Given the description of an element on the screen output the (x, y) to click on. 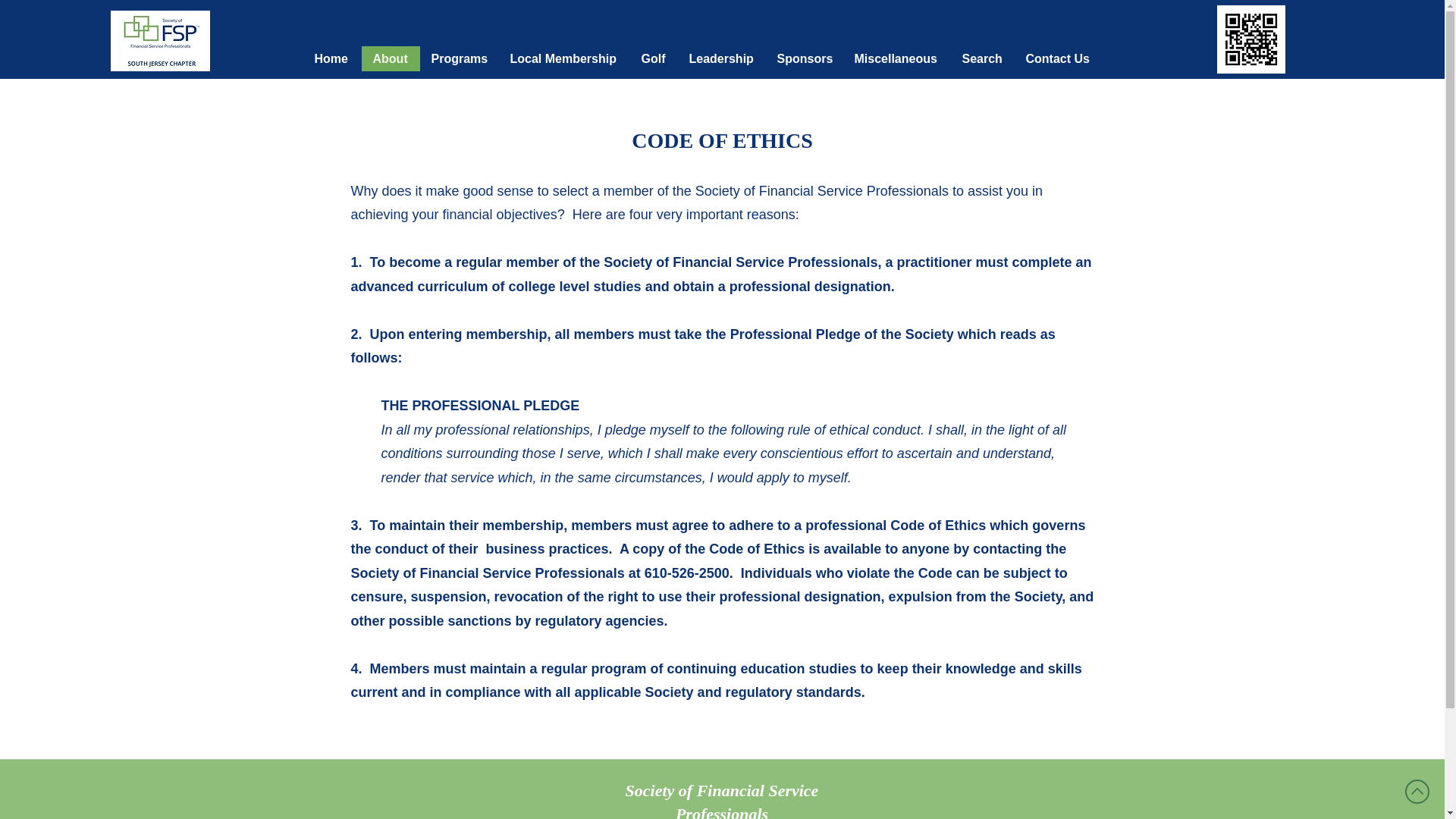
Leadership (721, 58)
Search (982, 58)
Programs (459, 58)
Society of Financial Service Professionals (722, 800)
Home (331, 58)
Contact Us (1058, 58)
Golf (652, 58)
Miscellaneous (896, 58)
About (390, 58)
Local Membership (564, 58)
